Given the description of an element on the screen output the (x, y) to click on. 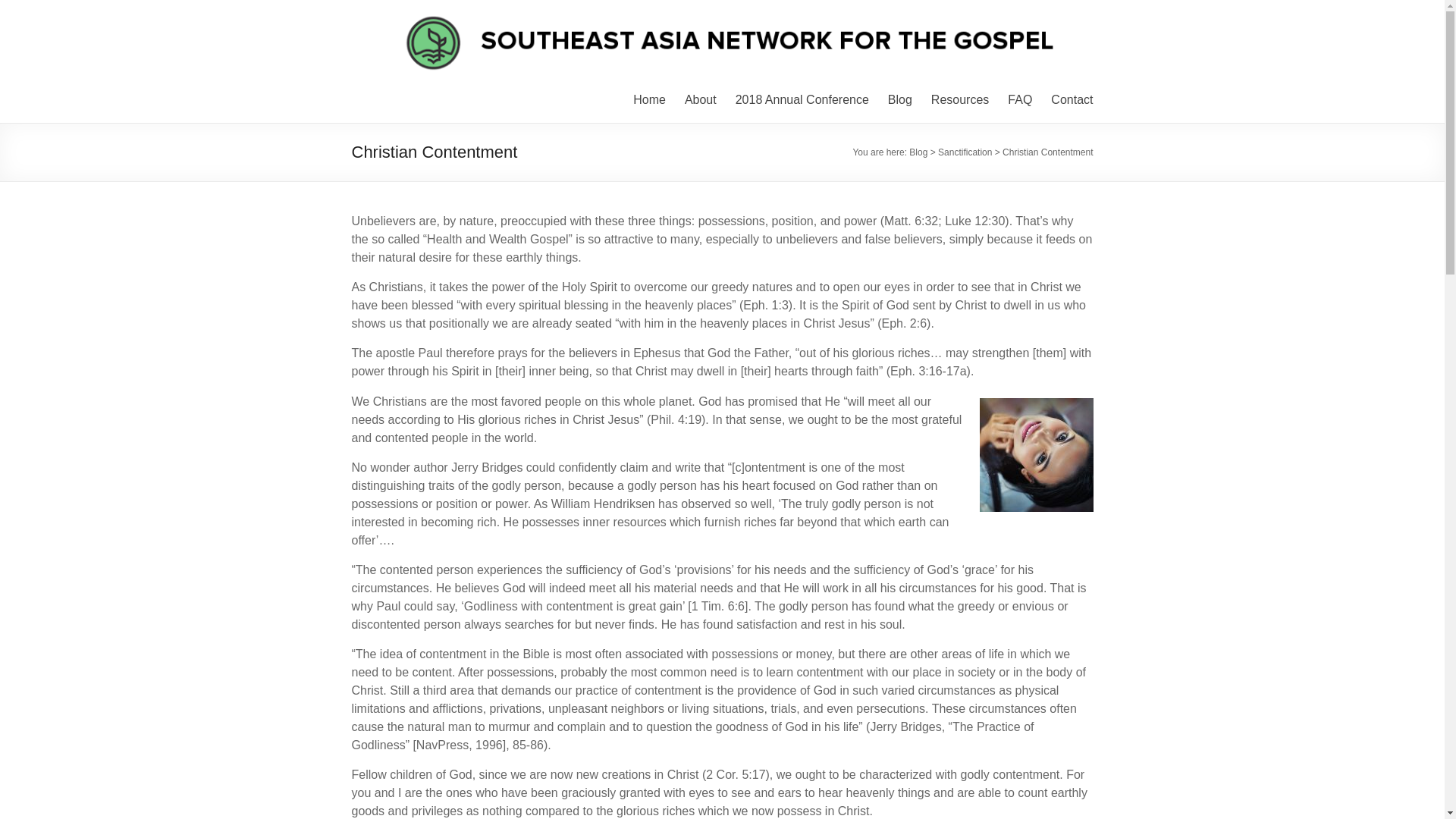
Home (649, 99)
FAQ (1019, 99)
Go to the Sanctification category archives. (964, 152)
Resources (959, 99)
Go to Blog. (917, 152)
2018 Annual Conference (802, 99)
Blog (917, 152)
Blog (900, 99)
Sanctification (964, 152)
Contact (1072, 99)
